Given the description of an element on the screen output the (x, y) to click on. 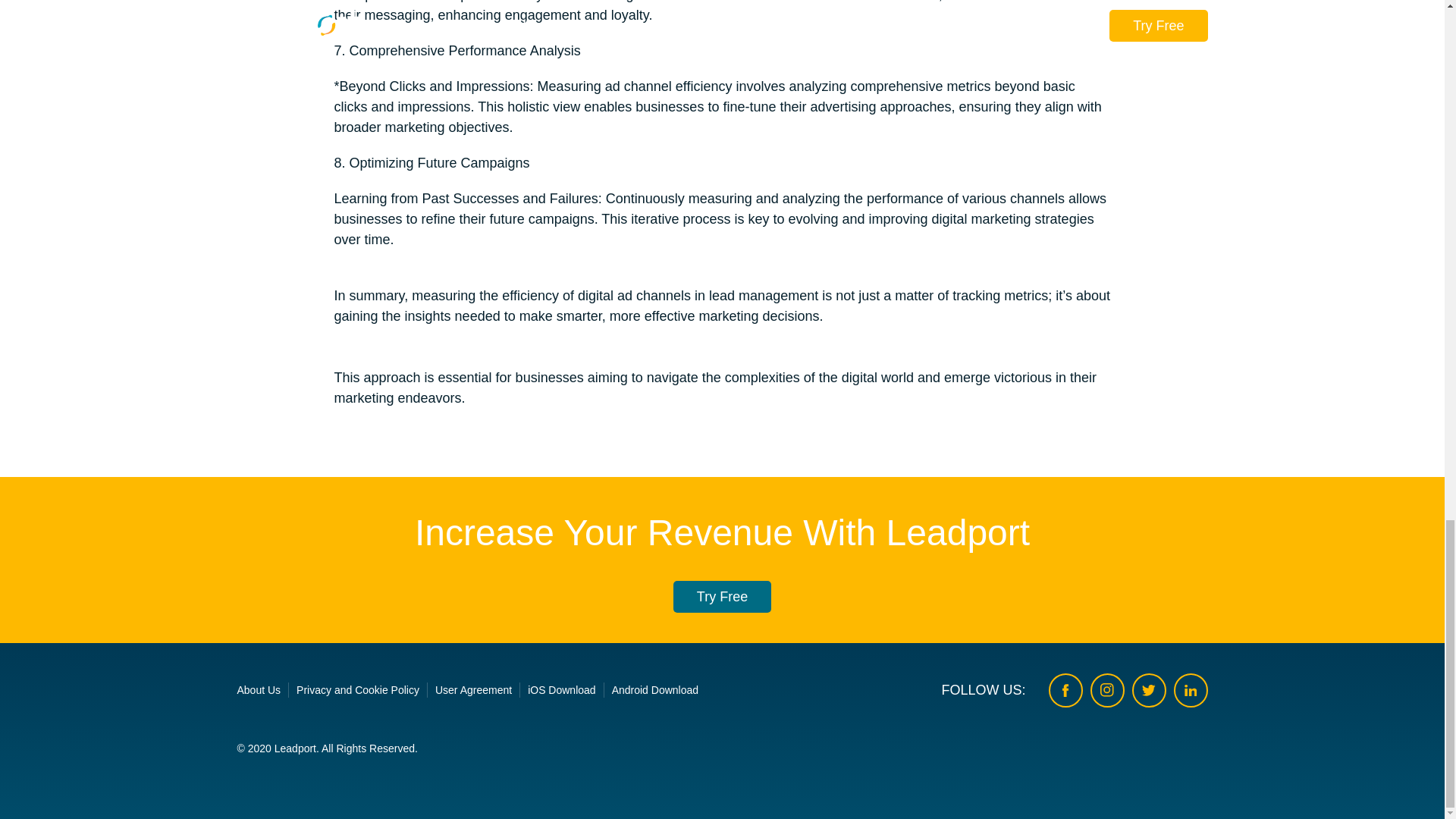
Android Download (654, 690)
Try Free (721, 596)
About Us (258, 690)
Privacy and Cookie Policy (358, 690)
User Agreement (473, 690)
iOS Download (561, 690)
